Given the description of an element on the screen output the (x, y) to click on. 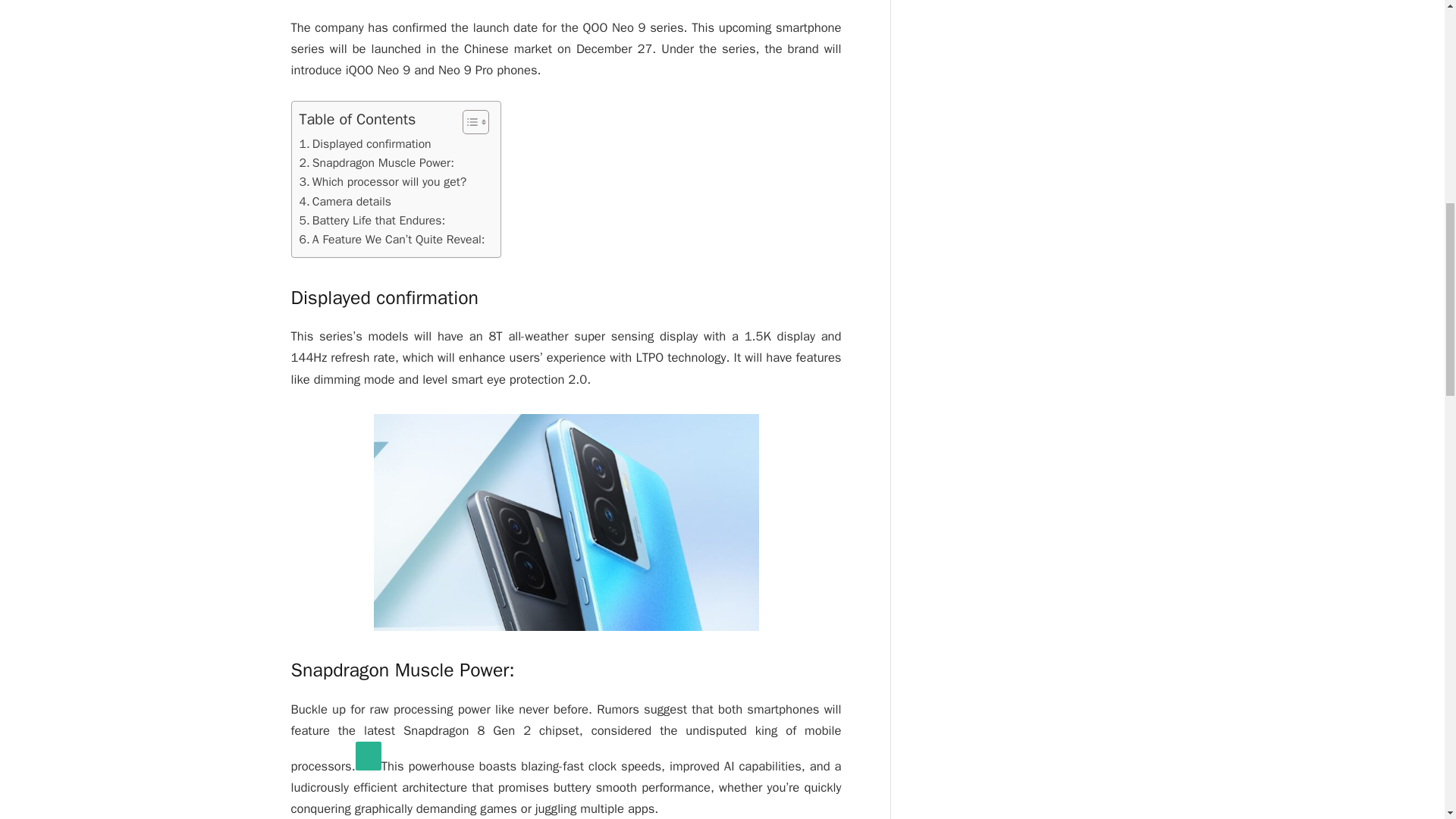
Snapdragon Muscle Power: (375, 162)
Which processor will you get? (381, 181)
Displayed confirmation (364, 144)
Camera details (344, 201)
Battery Life that Endures: (371, 220)
